Given the description of an element on the screen output the (x, y) to click on. 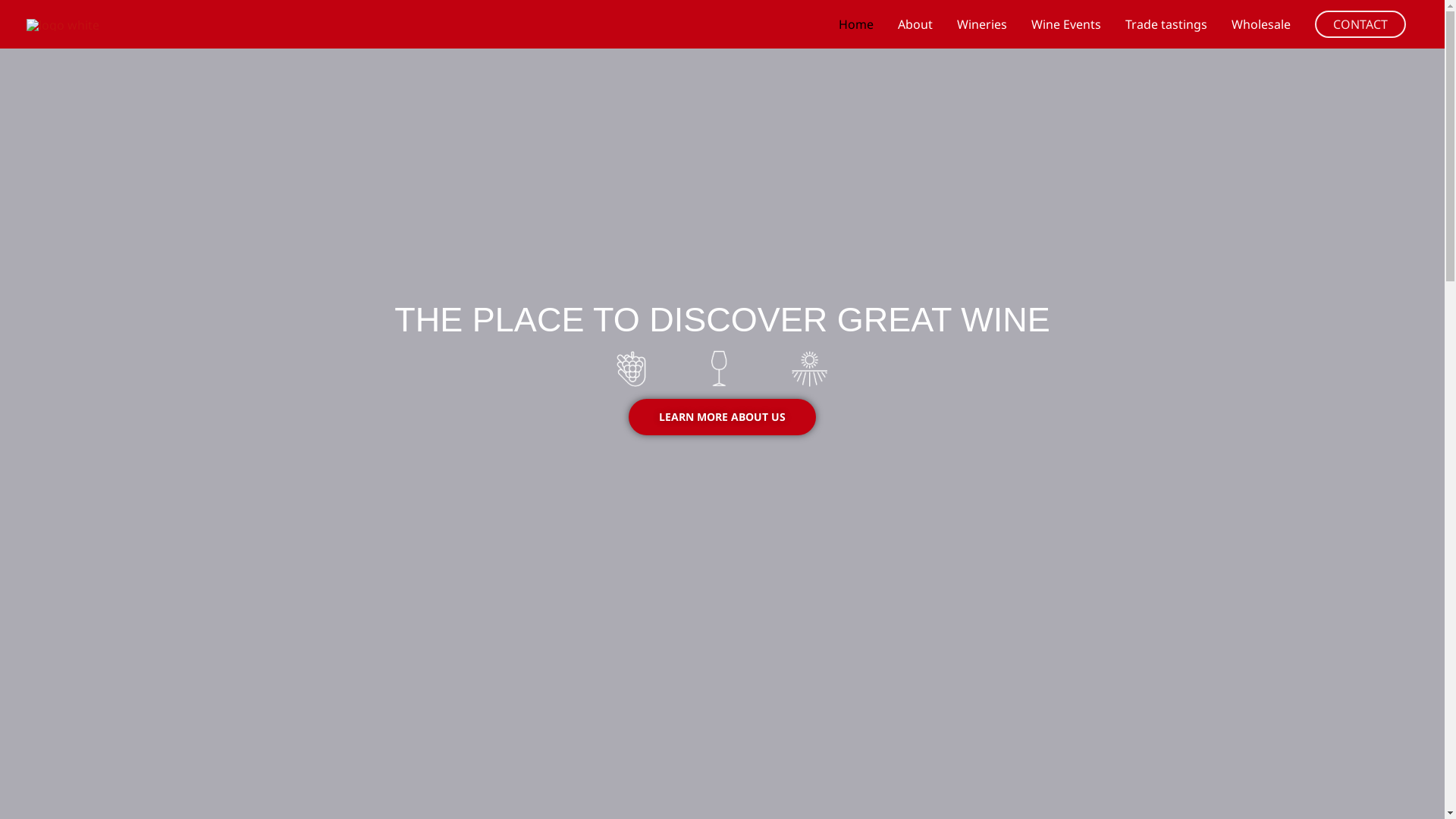
About Element type: text (914, 24)
Wholesale Element type: text (1260, 24)
Wine Events Element type: text (1066, 24)
Wineries Element type: text (981, 24)
Home Element type: text (855, 24)
Trade tastings Element type: text (1166, 24)
CONTACT Element type: text (1359, 23)
LEARN MORE ABOUT US Element type: text (721, 416)
